Given the description of an element on the screen output the (x, y) to click on. 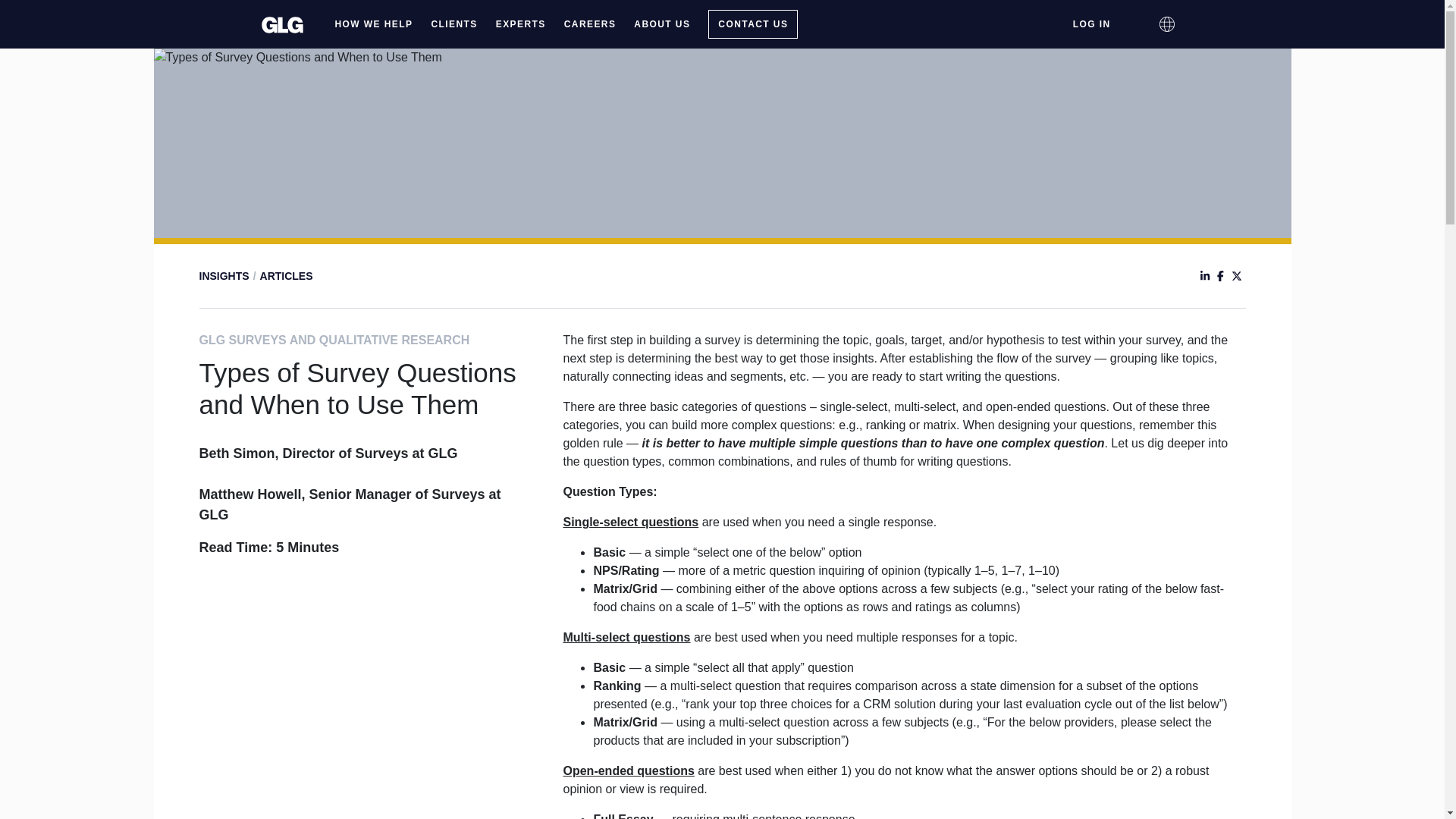
CLIENTS (454, 23)
HOW WE HELP (374, 23)
CAREERS (590, 23)
EXPERTS (520, 23)
